Given the description of an element on the screen output the (x, y) to click on. 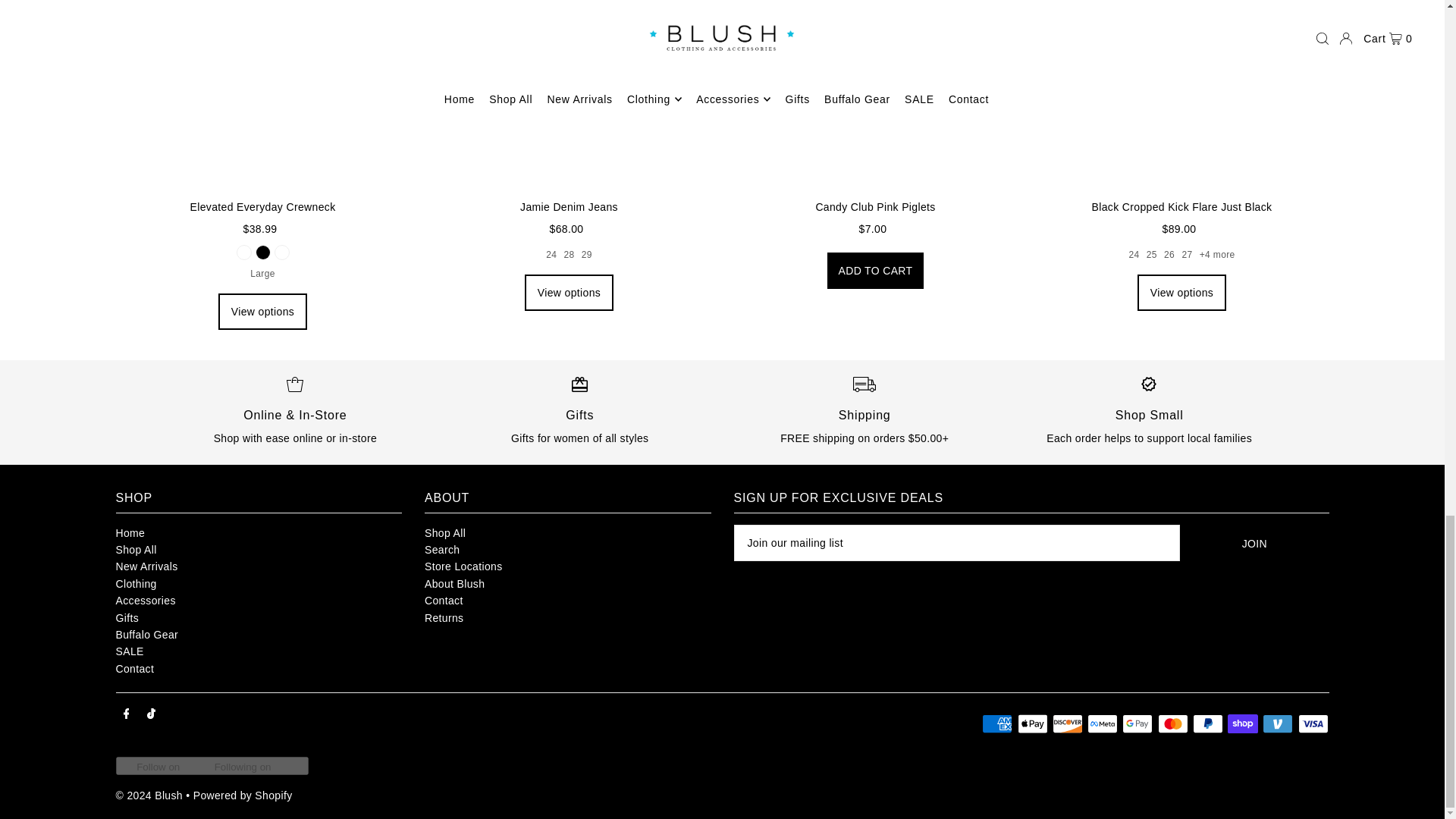
American Express (996, 723)
Black Cropped Kick Flare Just Black (1180, 94)
Meta Pay (1102, 723)
Elevated Everyday Crewneck (262, 94)
Candy Club Pink Piglets (875, 94)
Discover (1067, 723)
Add to Cart (875, 270)
Jamie Denim Jeans (569, 94)
Join (1253, 542)
Apple Pay (1032, 723)
